Given the description of an element on the screen output the (x, y) to click on. 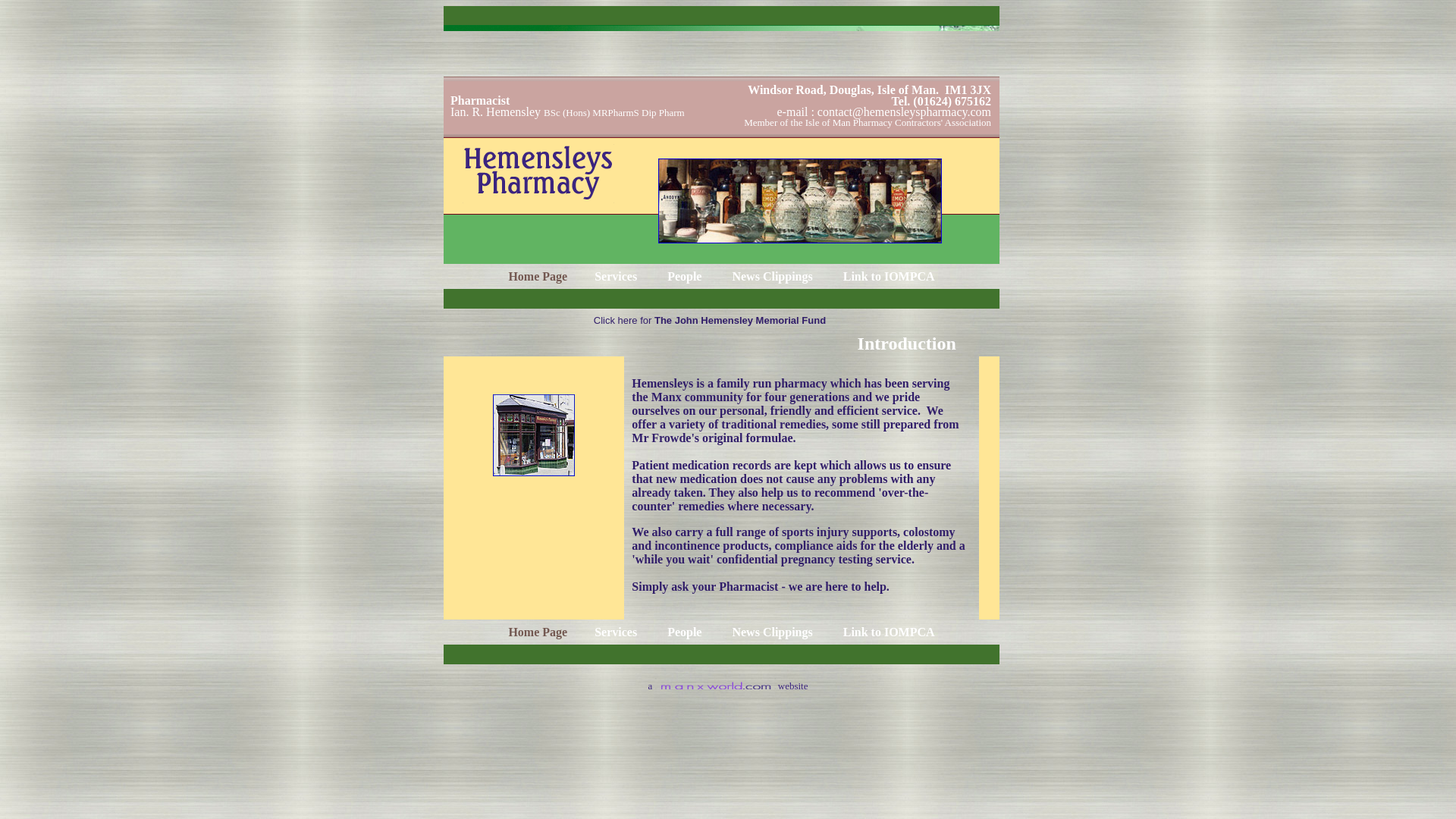
News Clippings (773, 276)
Services (617, 276)
People (685, 276)
News Clippings (773, 631)
People (685, 631)
Services (617, 631)
Link to IOMPCA (888, 276)
Link to IOMPCA (888, 631)
Click here for The John Hemensley Memorial Fund (709, 319)
